Given the description of an element on the screen output the (x, y) to click on. 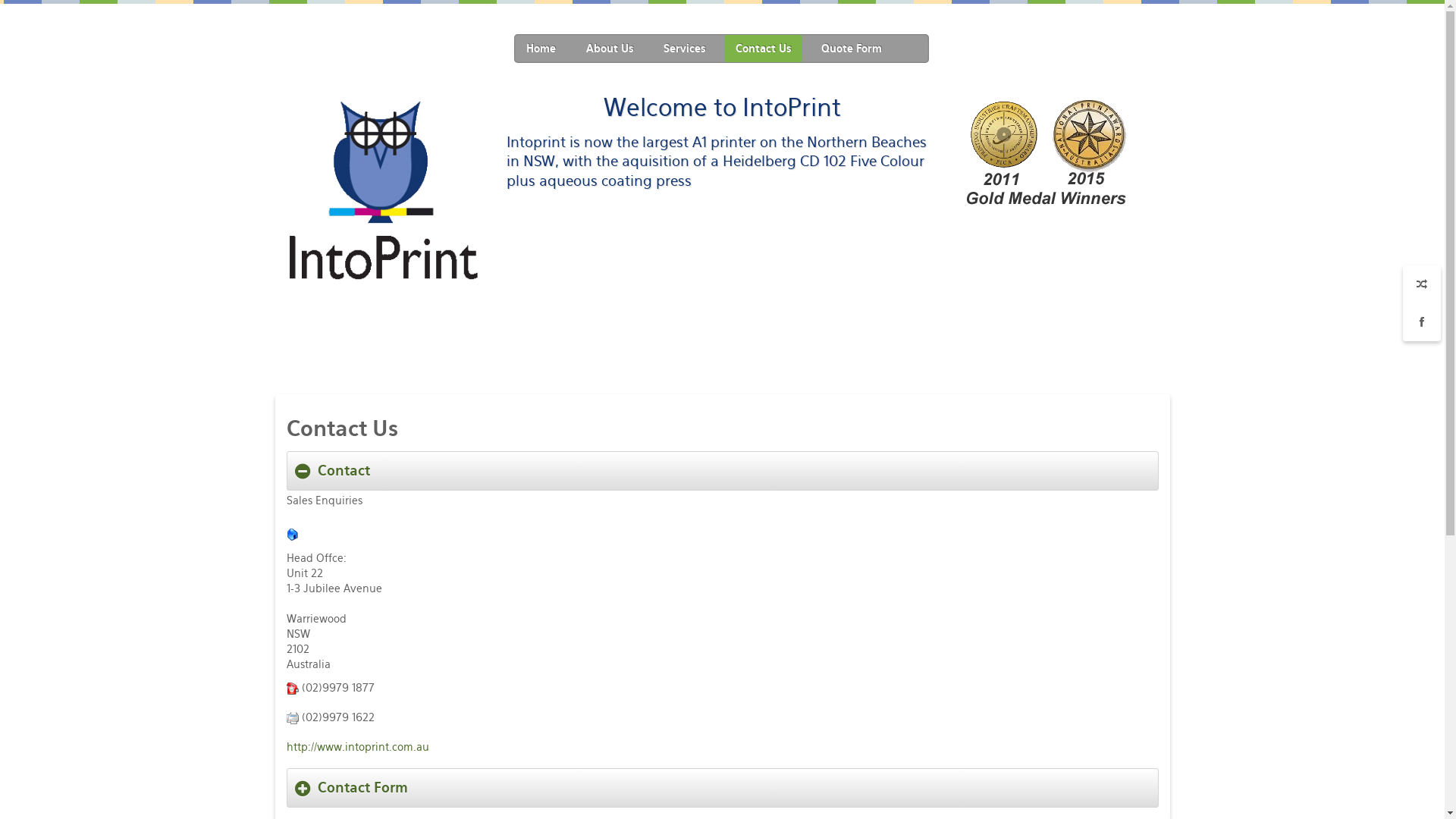
http://www.intoprint.com.au Element type: text (357, 746)
Contact Us Element type: text (762, 48)
Home Element type: text (540, 48)
Contact Form Element type: text (721, 787)
Quote Form Element type: text (851, 48)
Services Element type: text (684, 48)
Contact Element type: text (721, 470)
About Us Element type: text (609, 48)
